Given the description of an element on the screen output the (x, y) to click on. 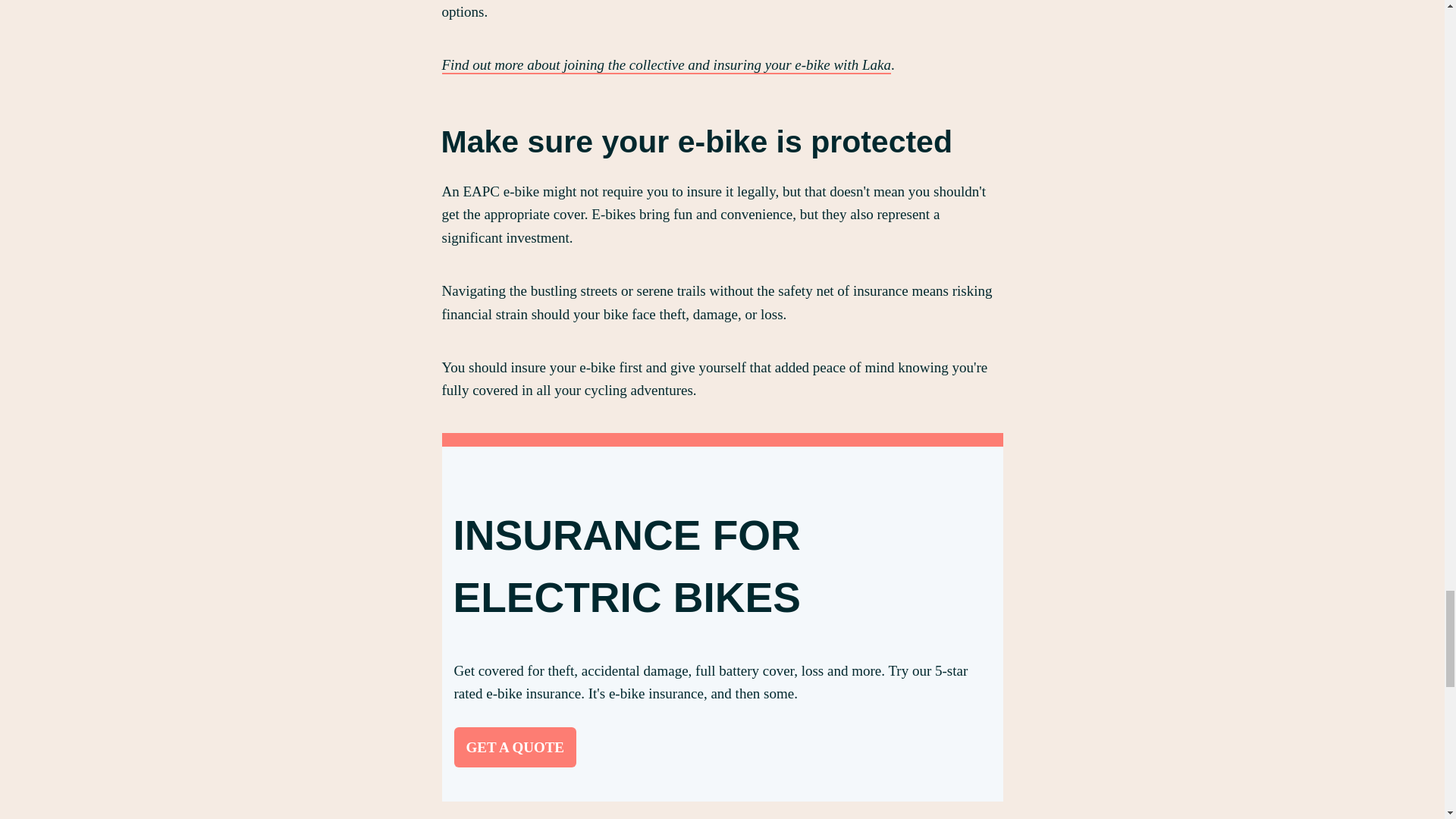
GET A QUOTE (514, 747)
